Given the description of an element on the screen output the (x, y) to click on. 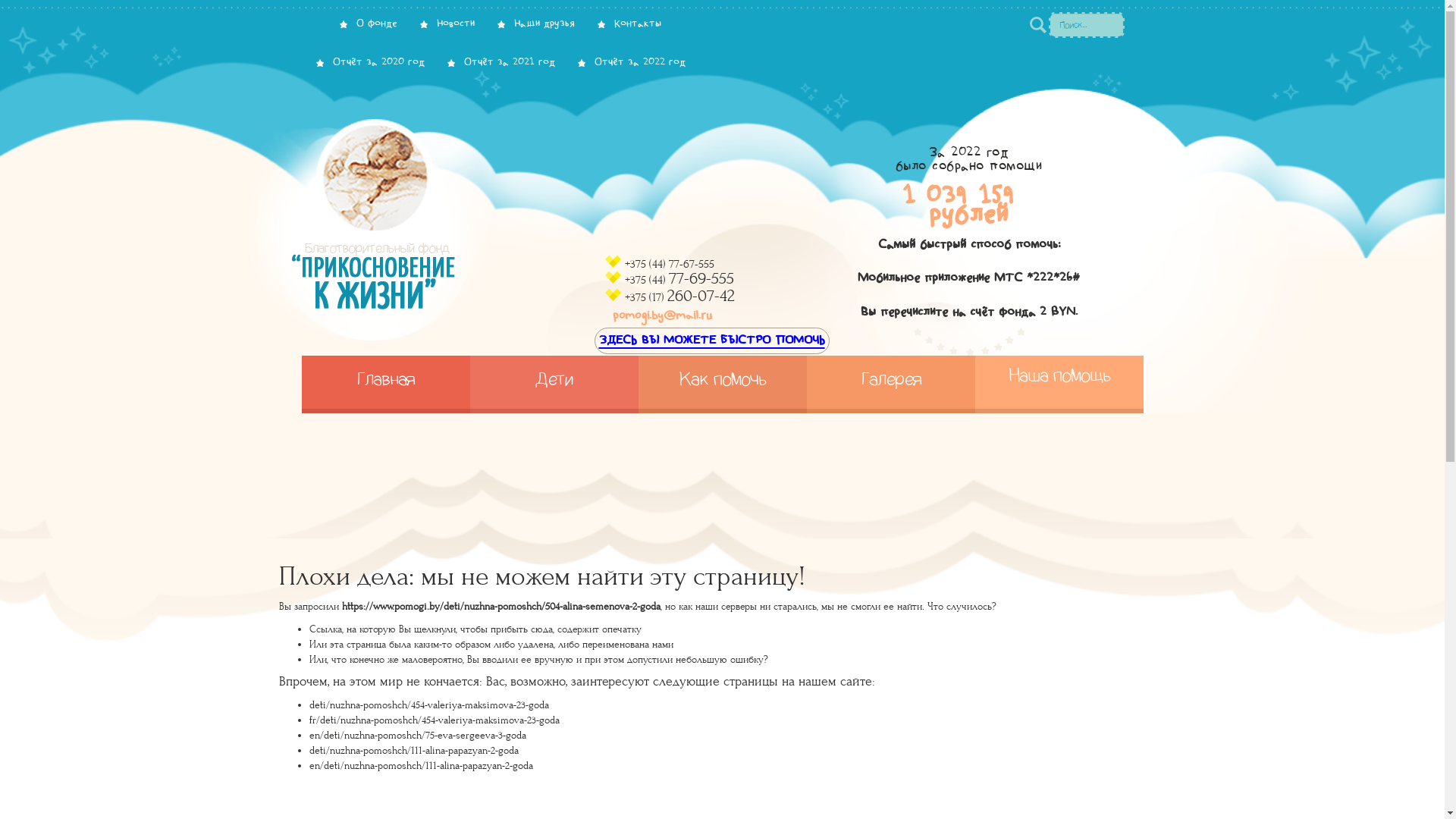
deti/nuzhna-pomoshch/111-alina-papazyan-2-goda Element type: text (413, 750)
en/deti/nuzhna-pomoshch/75-eva-sergeeva-3-goda Element type: text (417, 735)
fr/deti/nuzhna-pomoshch/454-valeriya-maksimova-23-goda Element type: text (434, 720)
pomogi.by Element type: hover (425, 232)
deti/nuzhna-pomoshch/454-valeriya-maksimova-23-goda Element type: text (429, 705)
en/deti/nuzhna-pomoshch/111-alina-papazyan-2-goda Element type: text (421, 765)
